Given the description of an element on the screen output the (x, y) to click on. 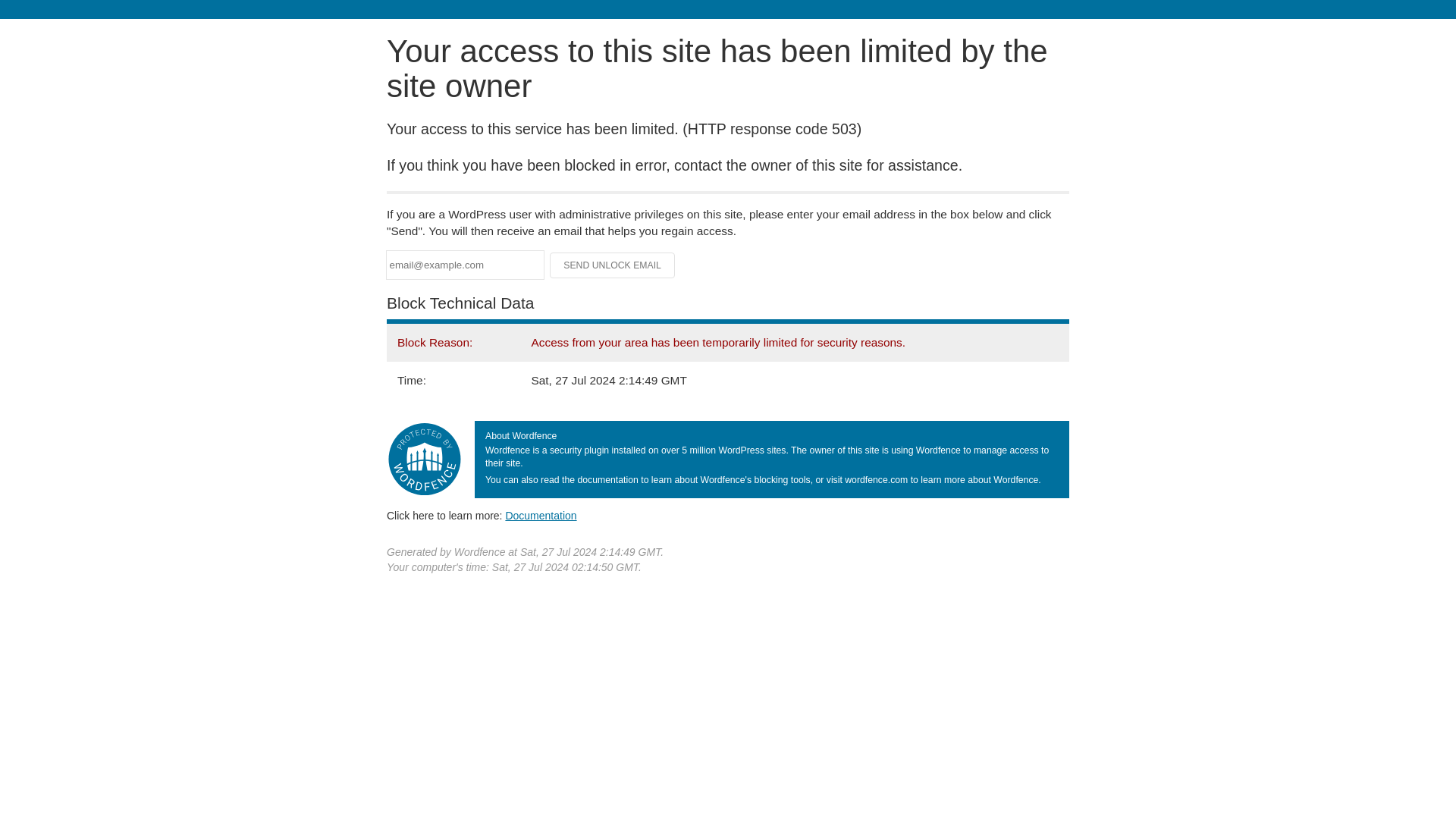
Documentation (540, 515)
Send Unlock Email (612, 265)
Send Unlock Email (612, 265)
